Given the description of an element on the screen output the (x, y) to click on. 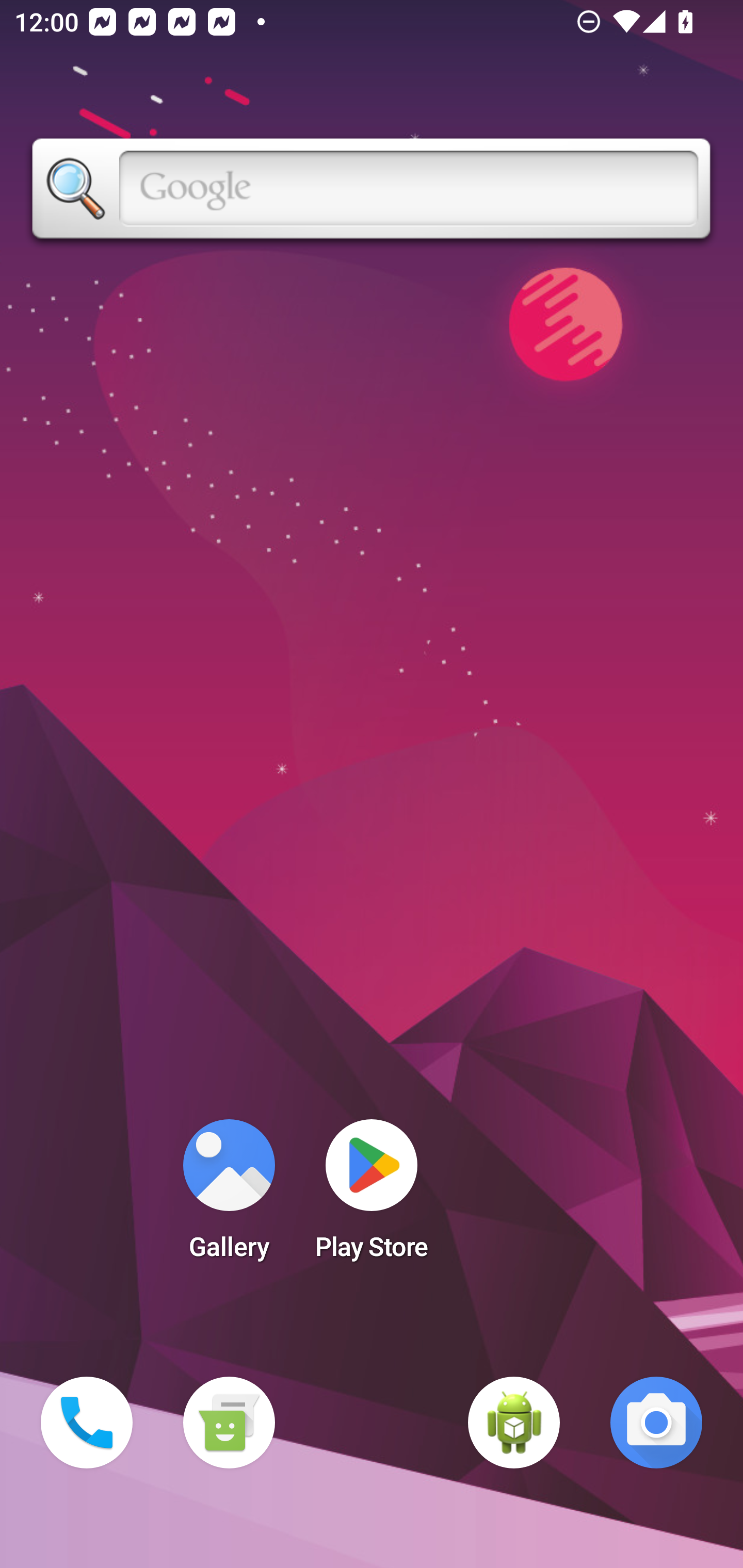
Gallery (228, 1195)
Play Store (371, 1195)
Phone (86, 1422)
Messaging (228, 1422)
WebView Browser Tester (513, 1422)
Camera (656, 1422)
